Given the description of an element on the screen output the (x, y) to click on. 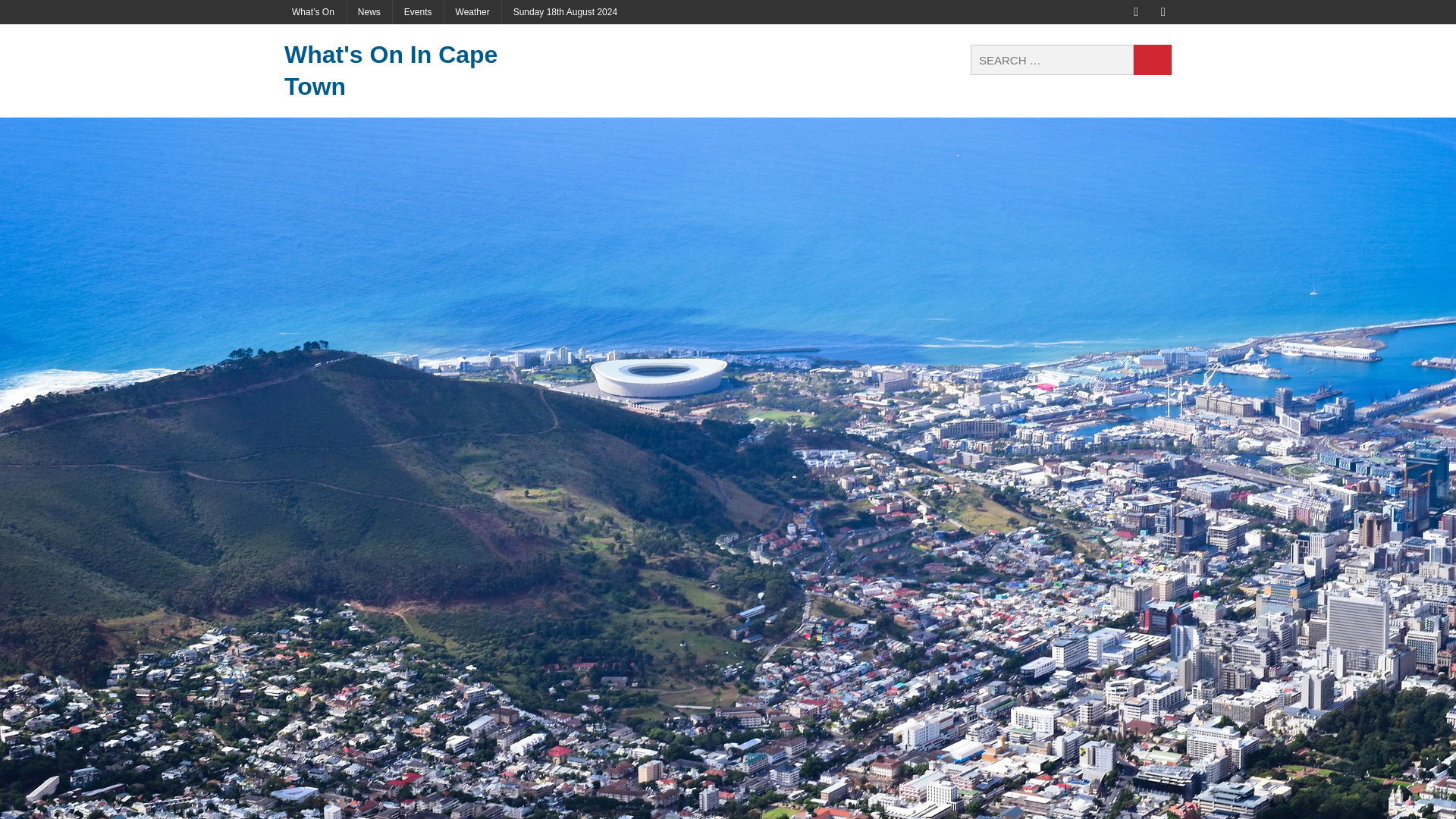
Events (418, 12)
What's On In Cape Town (423, 70)
Weather (472, 12)
What'S On In Cape Town (423, 70)
Search (1153, 60)
Search (1153, 60)
Search (1153, 60)
News (368, 12)
Sunday 18th August 2024 (565, 12)
